Given the description of an element on the screen output the (x, y) to click on. 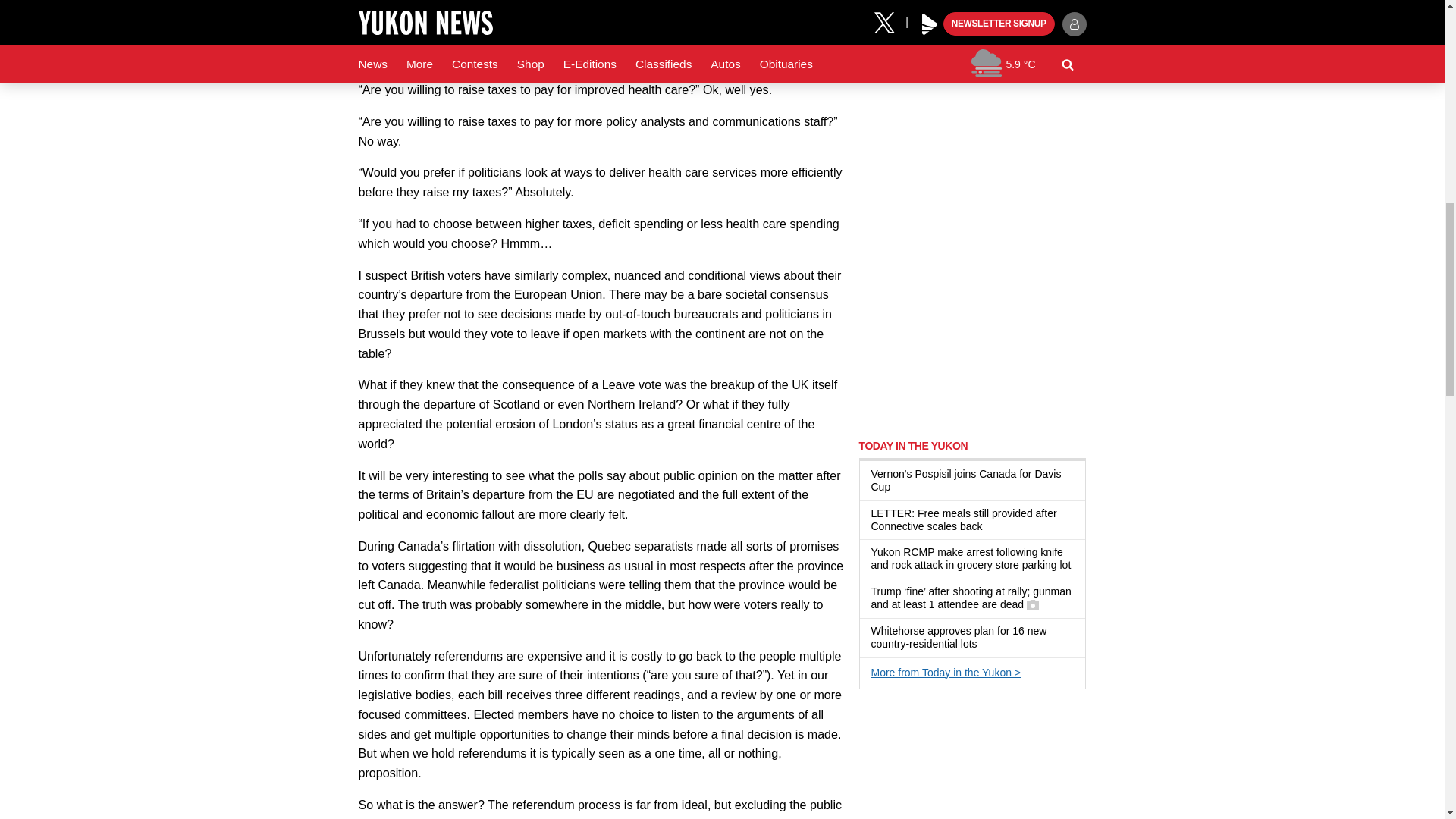
3rd party ad content (972, 124)
Has a gallery (1032, 604)
3rd party ad content (972, 329)
3rd party ad content (972, 761)
